Given the description of an element on the screen output the (x, y) to click on. 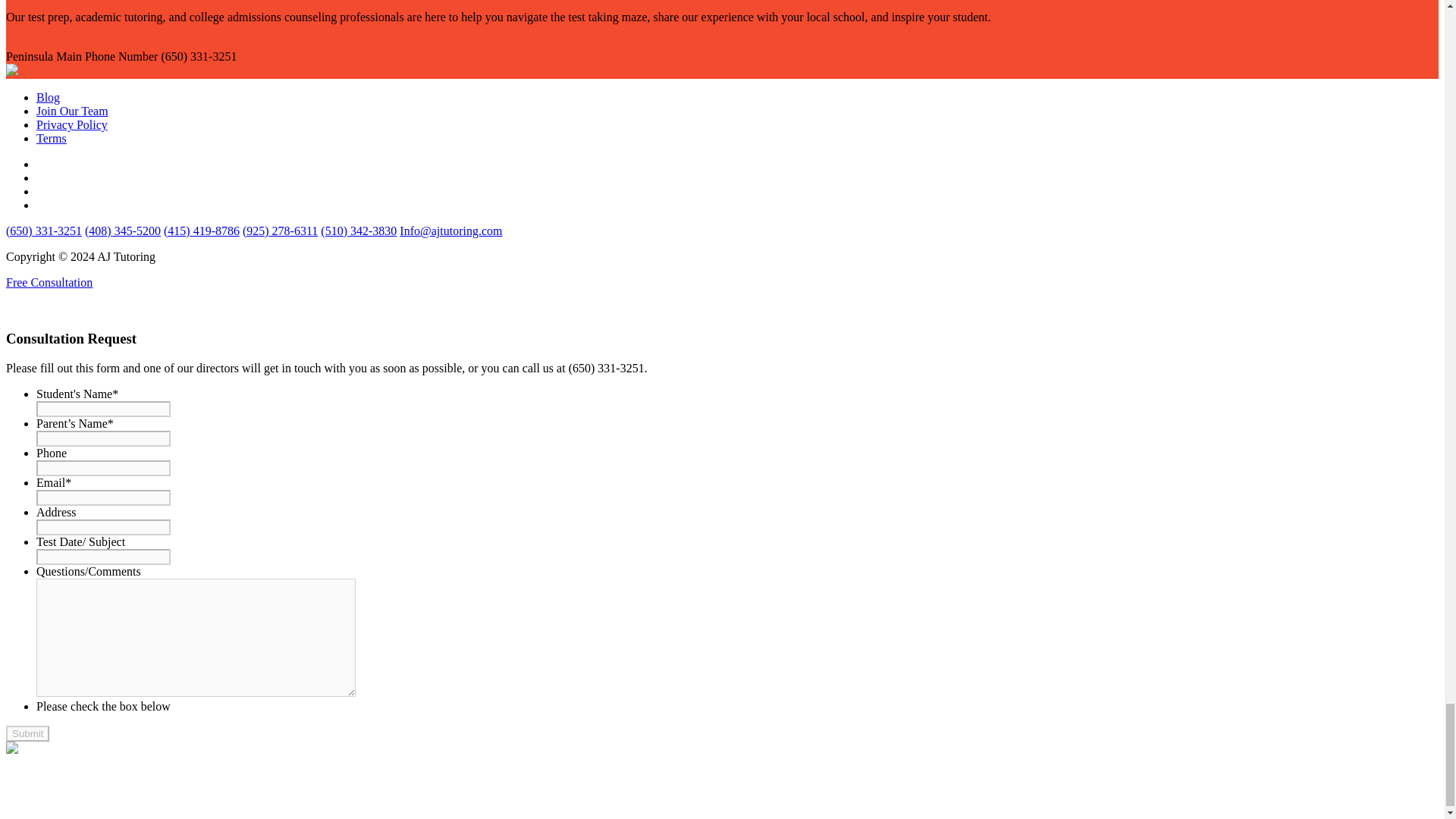
Submit (27, 733)
